Given the description of an element on the screen output the (x, y) to click on. 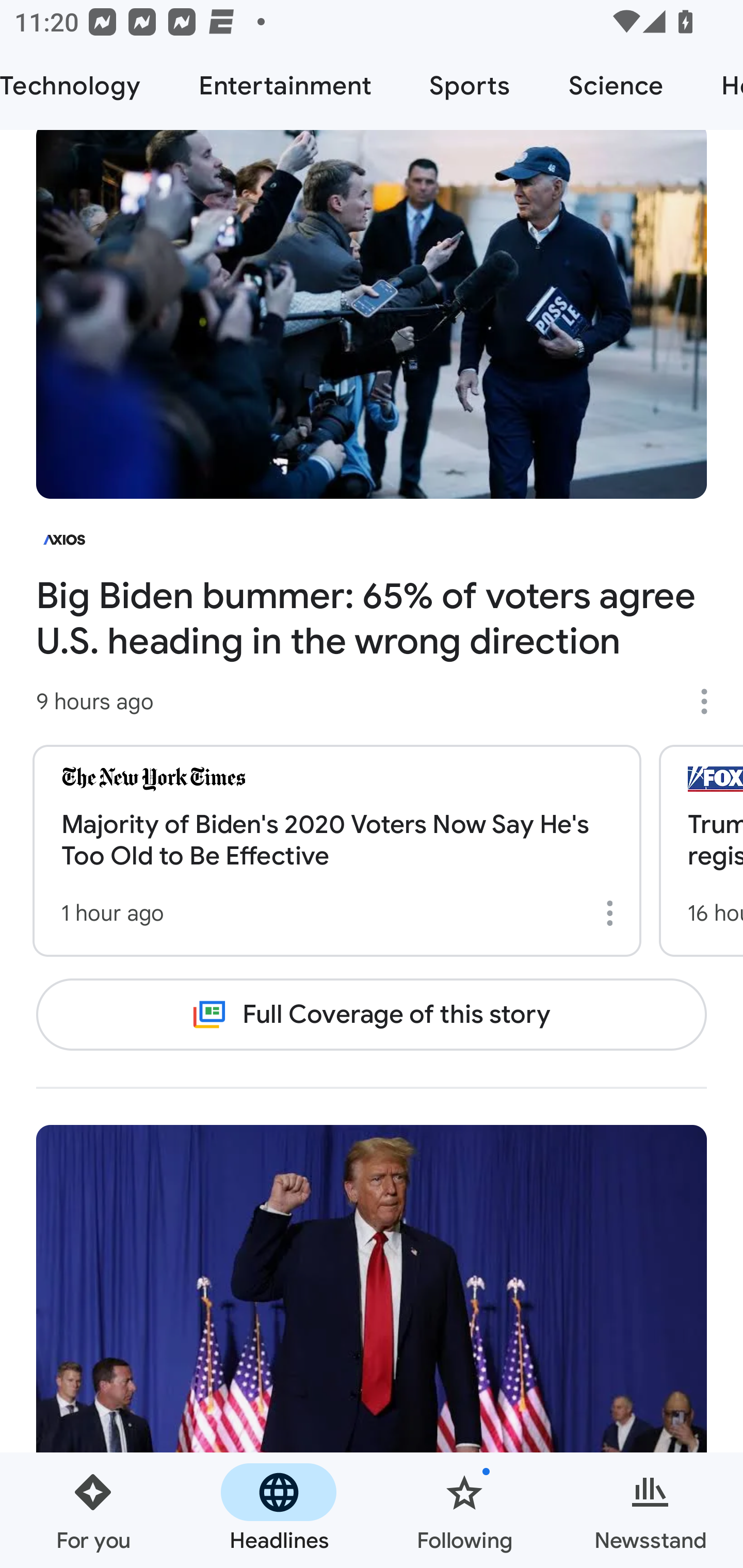
Technology (84, 86)
Entertainment (284, 86)
Sports (469, 86)
Science (615, 86)
More options (711, 701)
More options (613, 912)
Full Coverage of this story (371, 1014)
For you (92, 1509)
Headlines (278, 1509)
Following (464, 1509)
Newsstand (650, 1509)
